Given the description of an element on the screen output the (x, y) to click on. 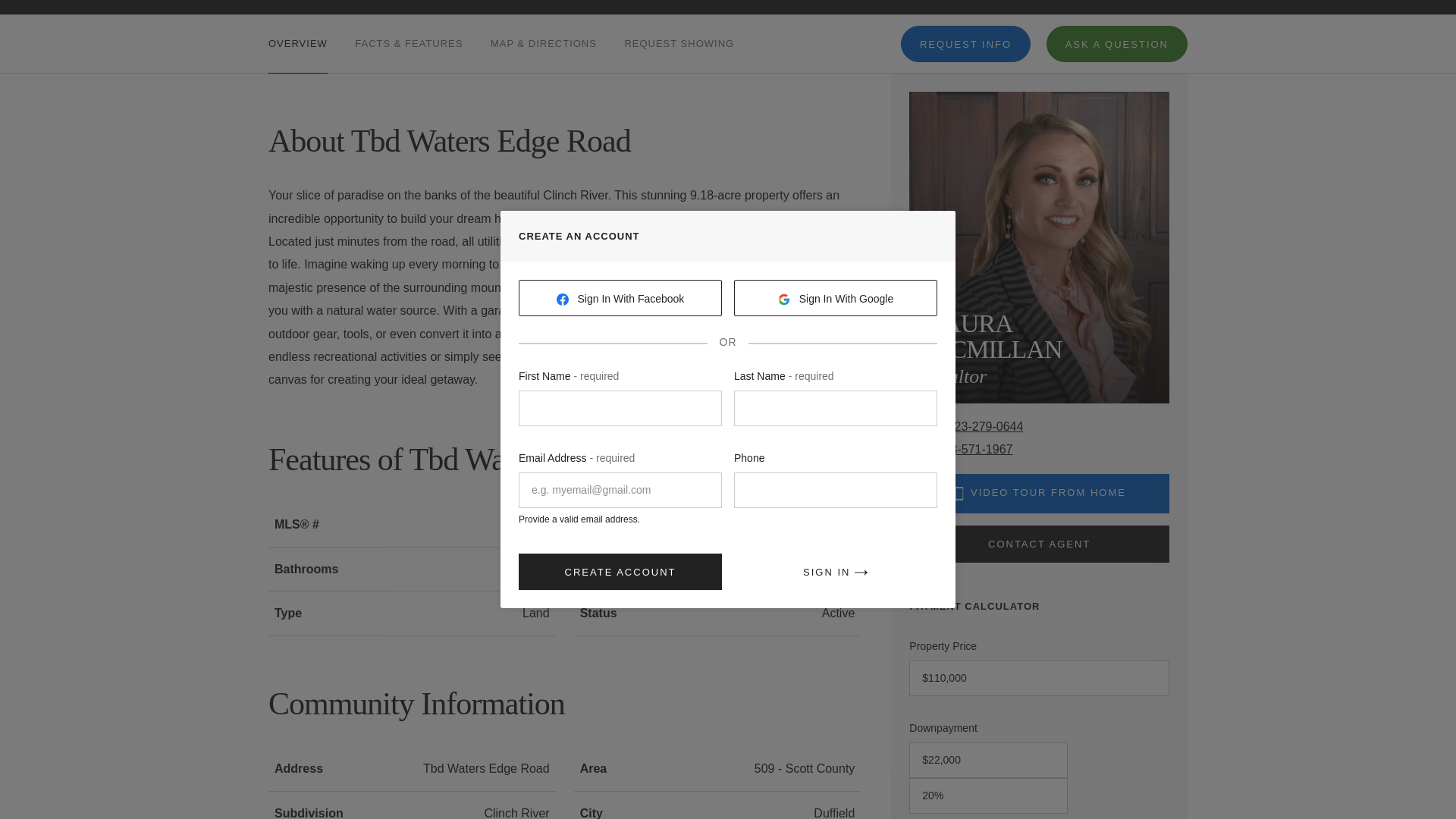
MOBILE ICON (959, 493)
